Given the description of an element on the screen output the (x, y) to click on. 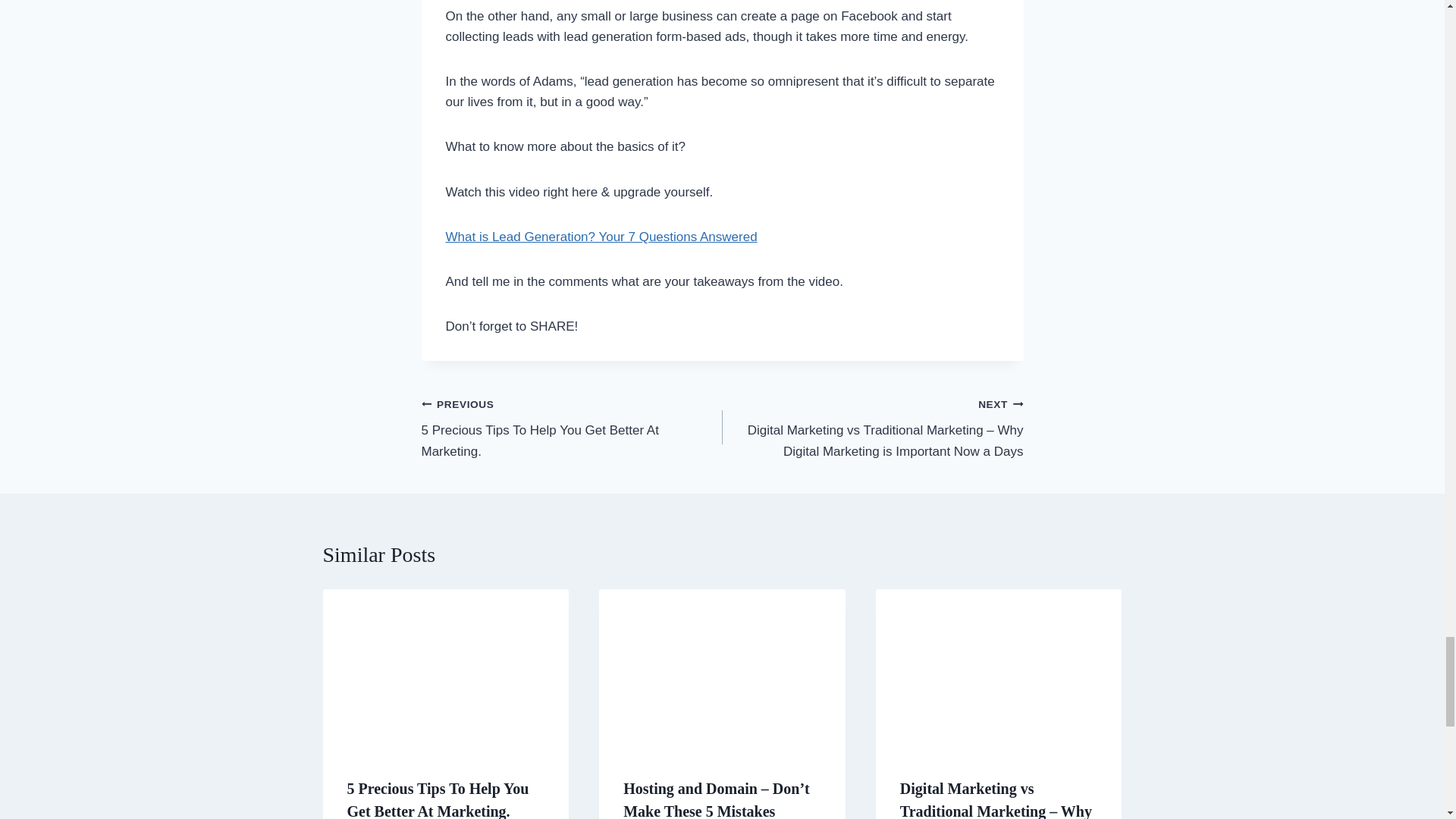
5 Precious Tips To Help You Get Better At Marketing. (438, 799)
What is Lead Generation? Your 7 Questions Answered (601, 237)
